Given the description of an element on the screen output the (x, y) to click on. 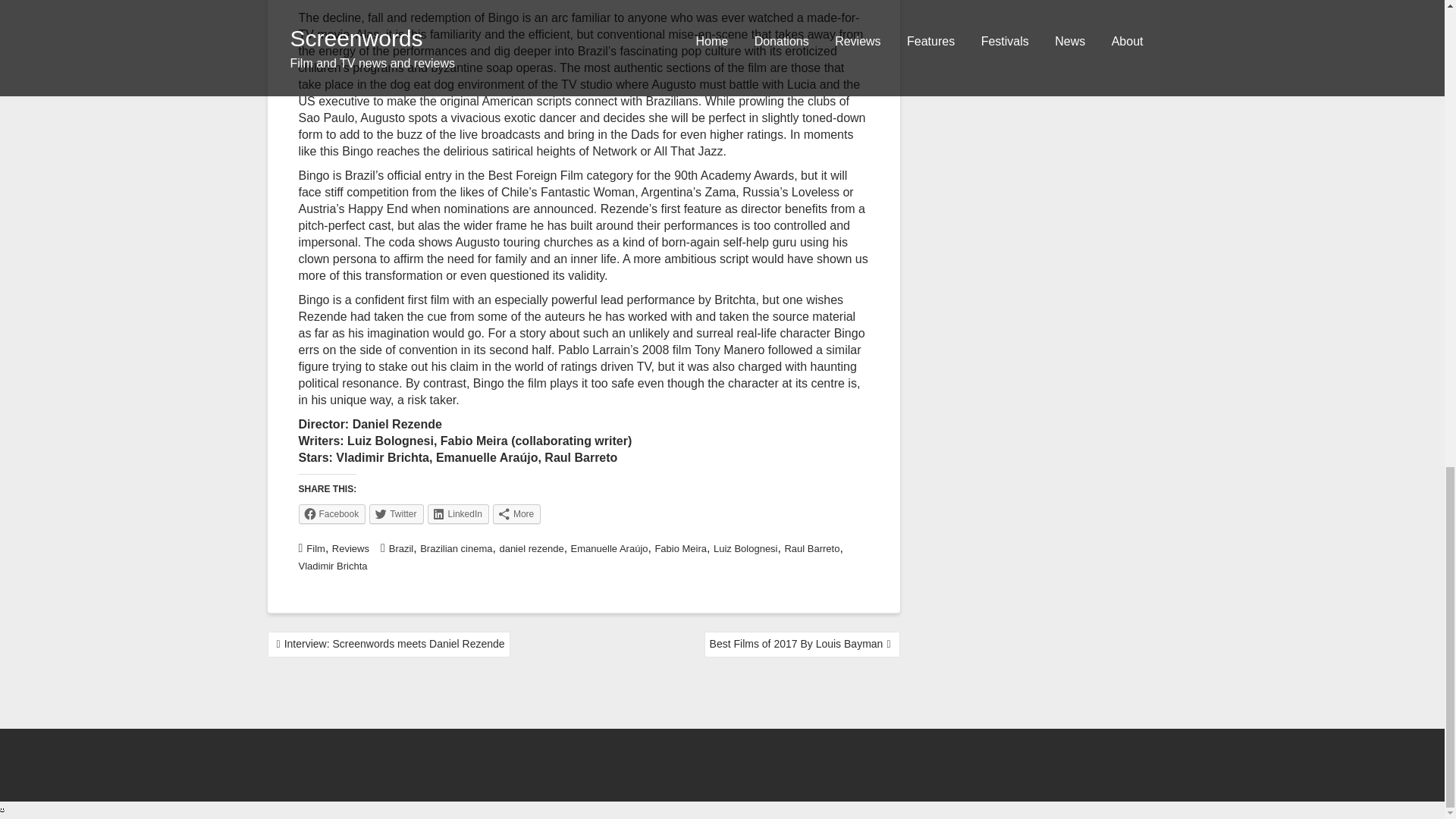
Vladimir Brichta (333, 565)
More (516, 514)
Raul Barreto (812, 548)
Brazil (400, 548)
Fabio Meira (679, 548)
Facebook (332, 514)
Reviews (350, 548)
Click to share on LinkedIn (458, 514)
LinkedIn (458, 514)
Click to share on Twitter (396, 514)
Click to share on Facebook (332, 514)
Interview: Screenwords meets Daniel Rezende (387, 644)
Twitter (396, 514)
Film (314, 548)
Brazilian cinema (456, 548)
